Given the description of an element on the screen output the (x, y) to click on. 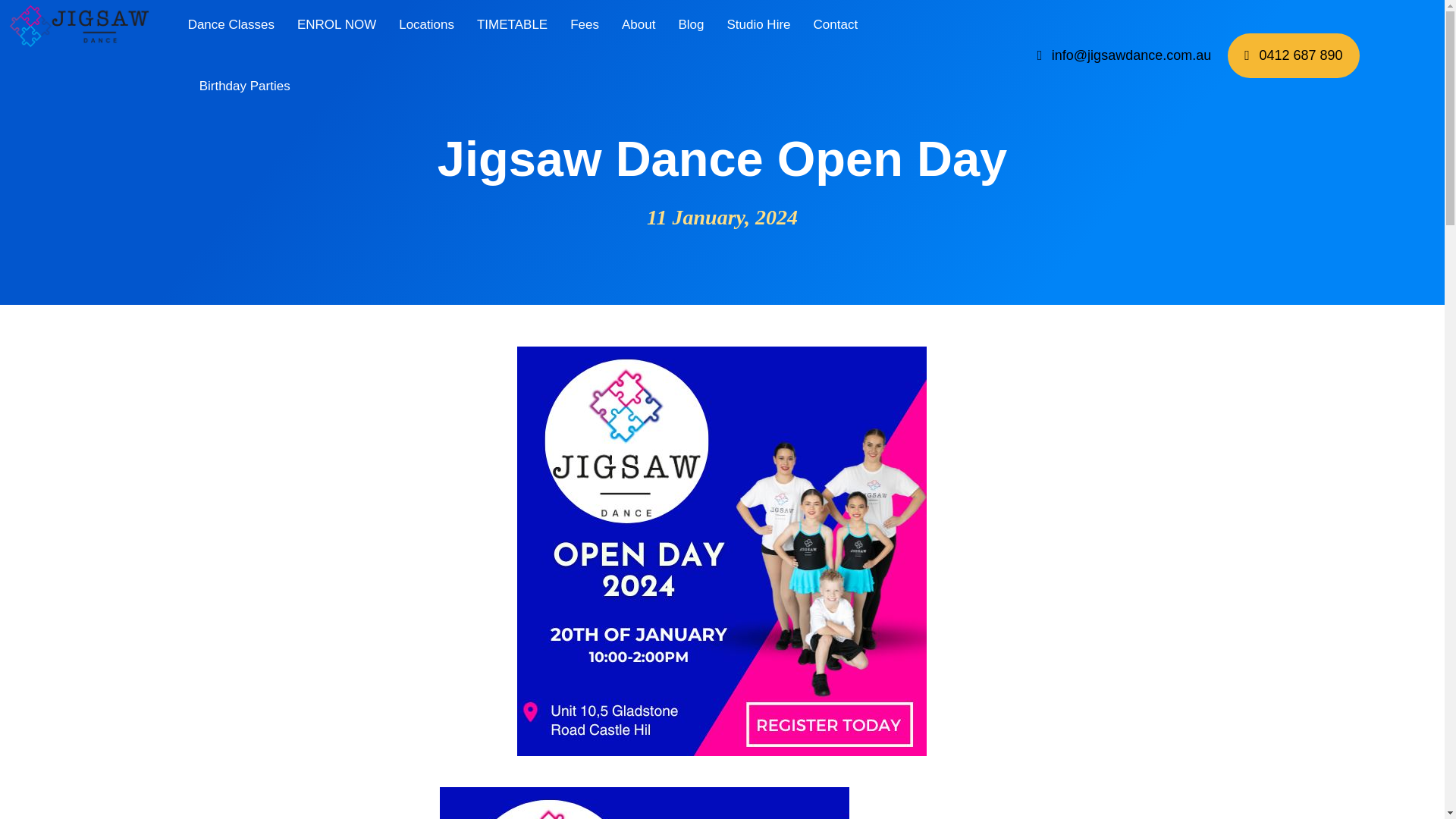
Dance Classes (231, 28)
Jigsaw Dance Open Day (643, 803)
Locations (426, 28)
ENROL NOW (336, 28)
0412 687 890 (1292, 55)
TIMETABLE (512, 28)
Birthday Parties (244, 87)
Studio Hire (758, 28)
